Given the description of an element on the screen output the (x, y) to click on. 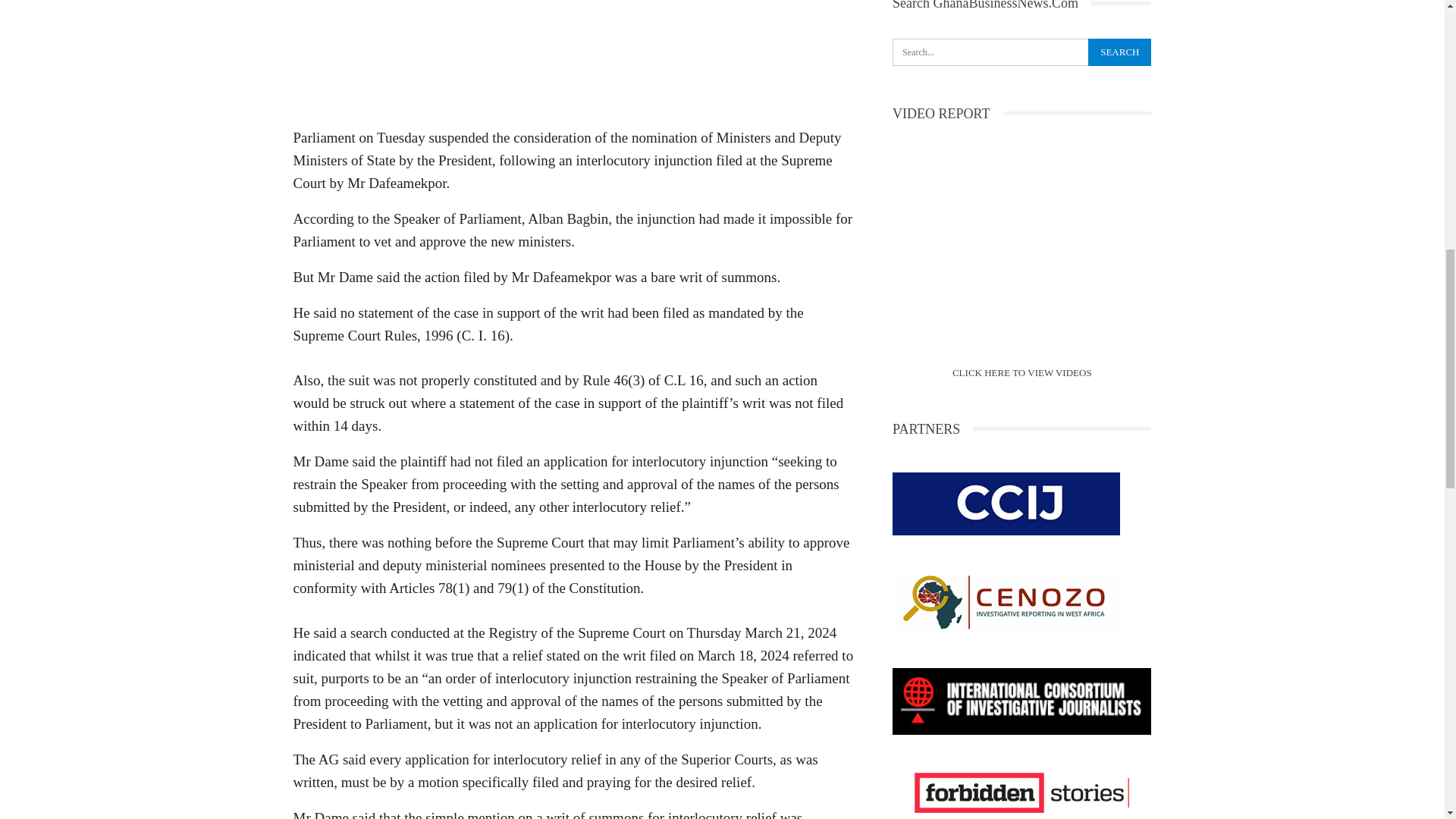
Search (1119, 52)
Search (1119, 52)
Advertisement (574, 58)
